Given the description of an element on the screen output the (x, y) to click on. 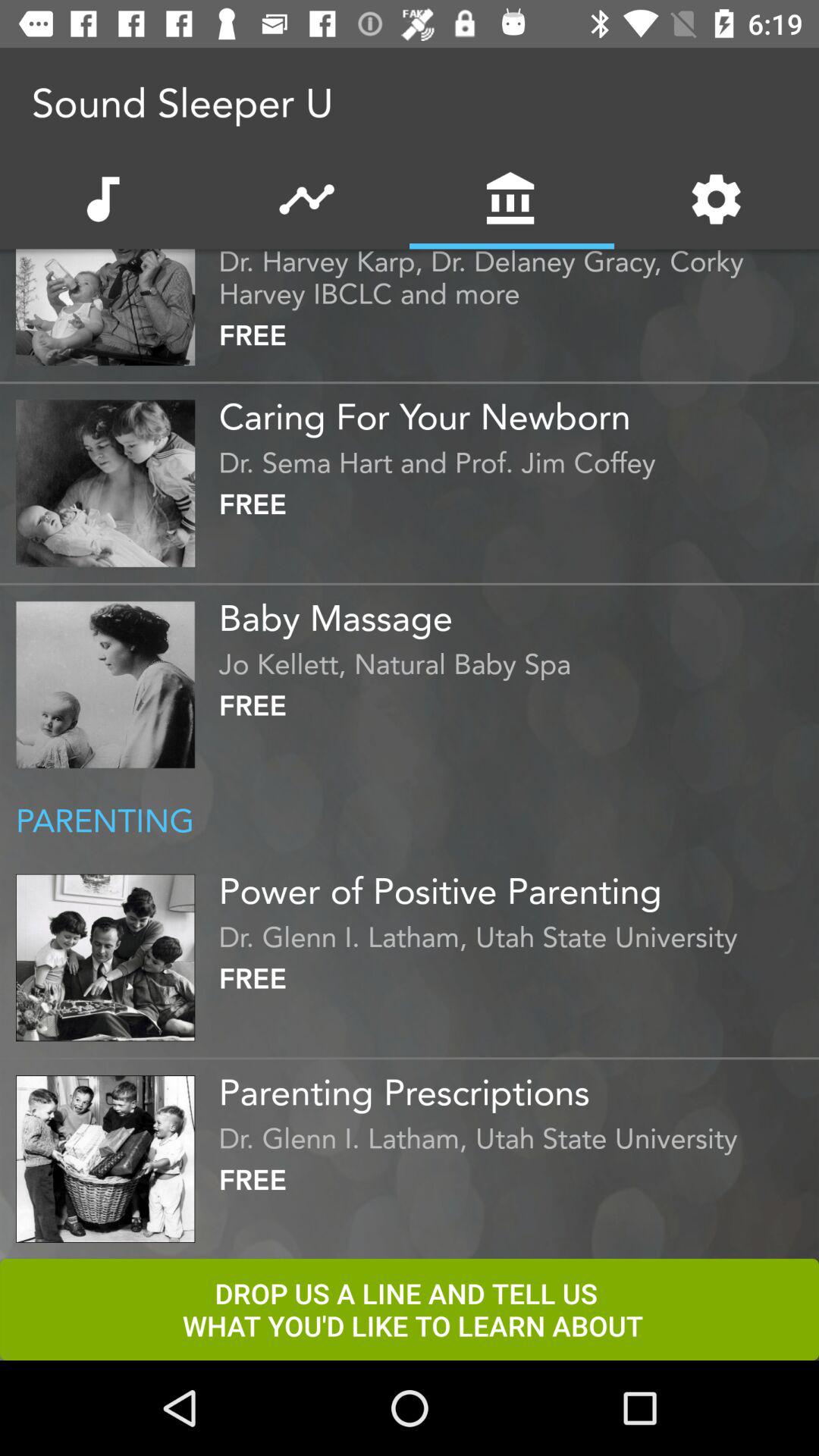
launch the item above the dr glenn i icon (515, 1086)
